Given the description of an element on the screen output the (x, y) to click on. 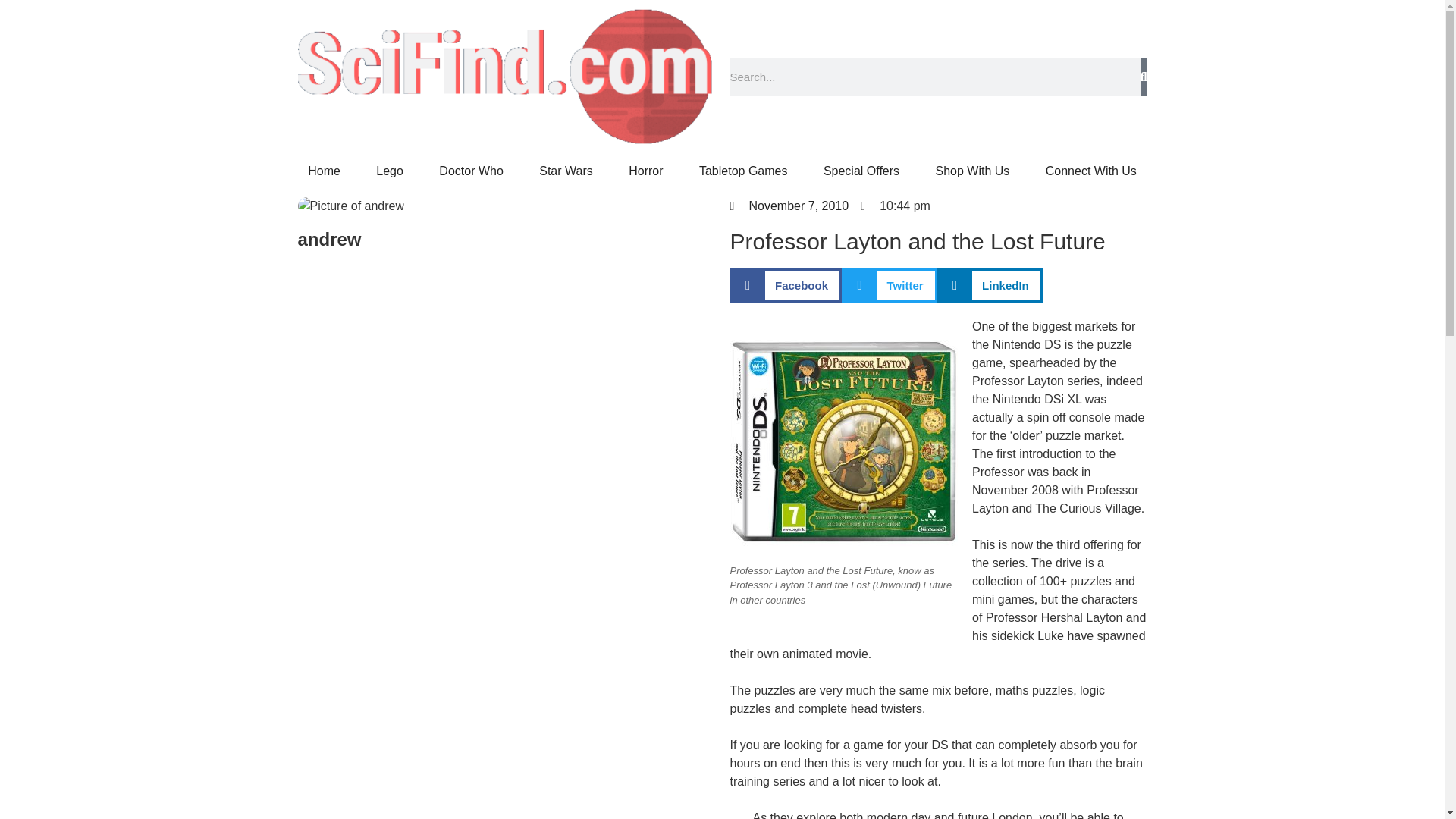
Special Offers (861, 171)
Star Wars (566, 171)
Horror (645, 171)
Connect With Us (1090, 171)
Home (323, 171)
November 7, 2010 (788, 206)
Doctor Who (471, 171)
Shop With Us (972, 171)
Professor Layton 3 (842, 441)
Lego (390, 171)
